Given the description of an element on the screen output the (x, y) to click on. 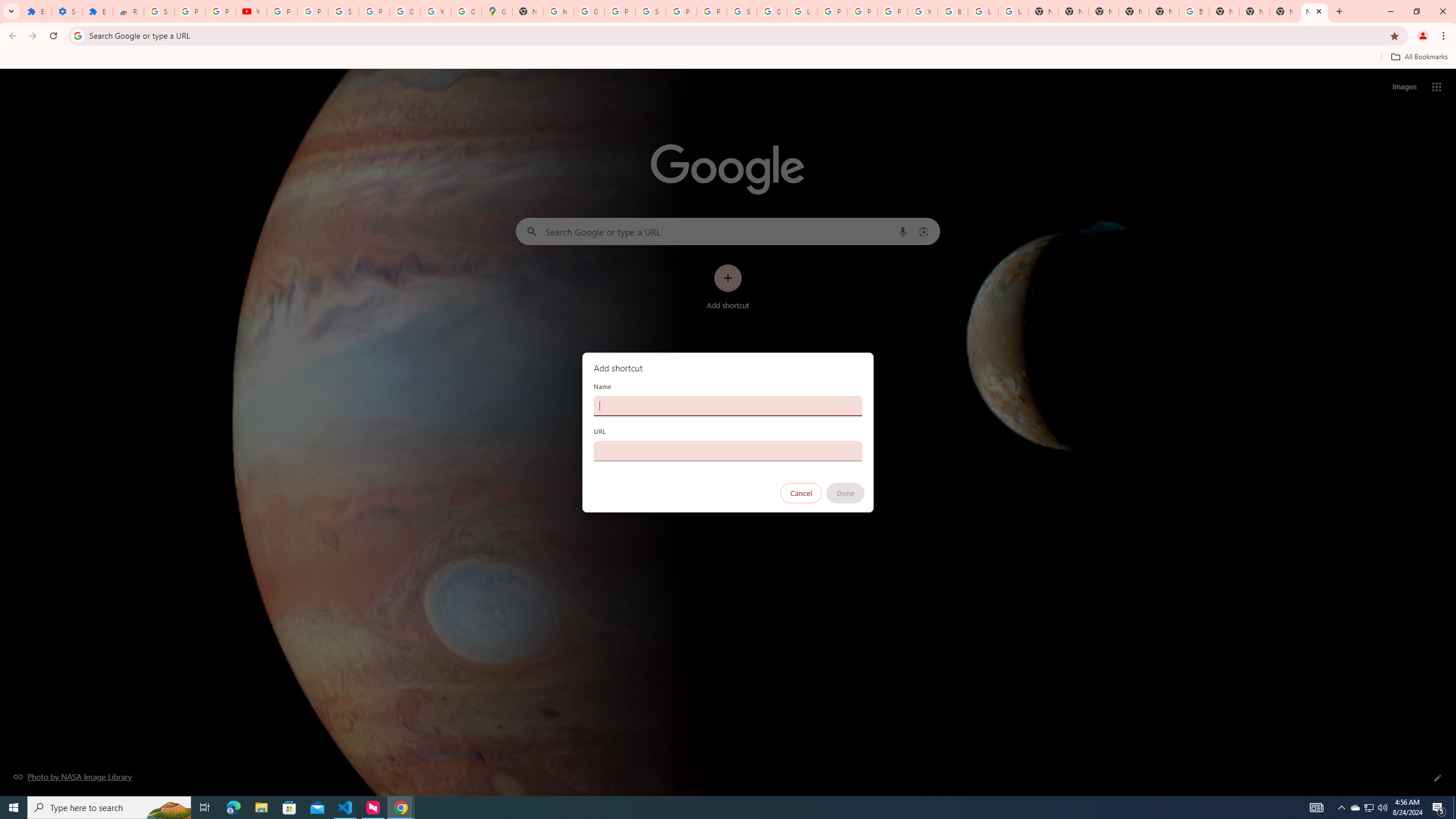
Settings (66, 11)
Bookmarks (728, 58)
YouTube (922, 11)
YouTube (251, 11)
Done (845, 493)
https://scholar.google.com/ (558, 11)
URL (727, 450)
YouTube (434, 11)
Reviews: Helix Fruit Jump Arcade Game (127, 11)
